Given the description of an element on the screen output the (x, y) to click on. 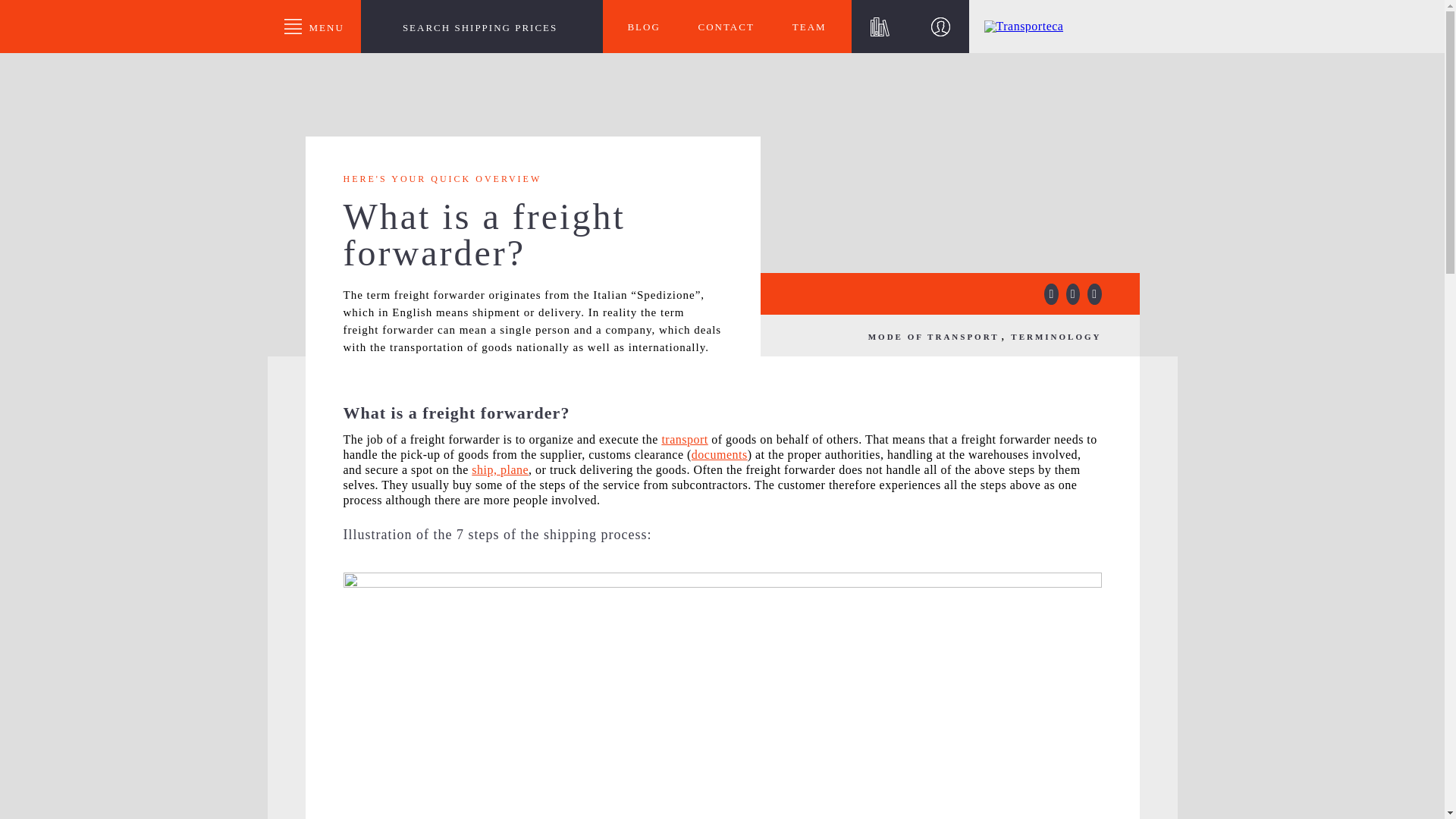
TERMINOLOGY (1055, 336)
documents (719, 454)
CONTACT (725, 26)
transport (684, 439)
ship, plane (499, 469)
TEAM (809, 26)
BLOG (643, 26)
MODE OF TRANSPORT (935, 336)
